Given the description of an element on the screen output the (x, y) to click on. 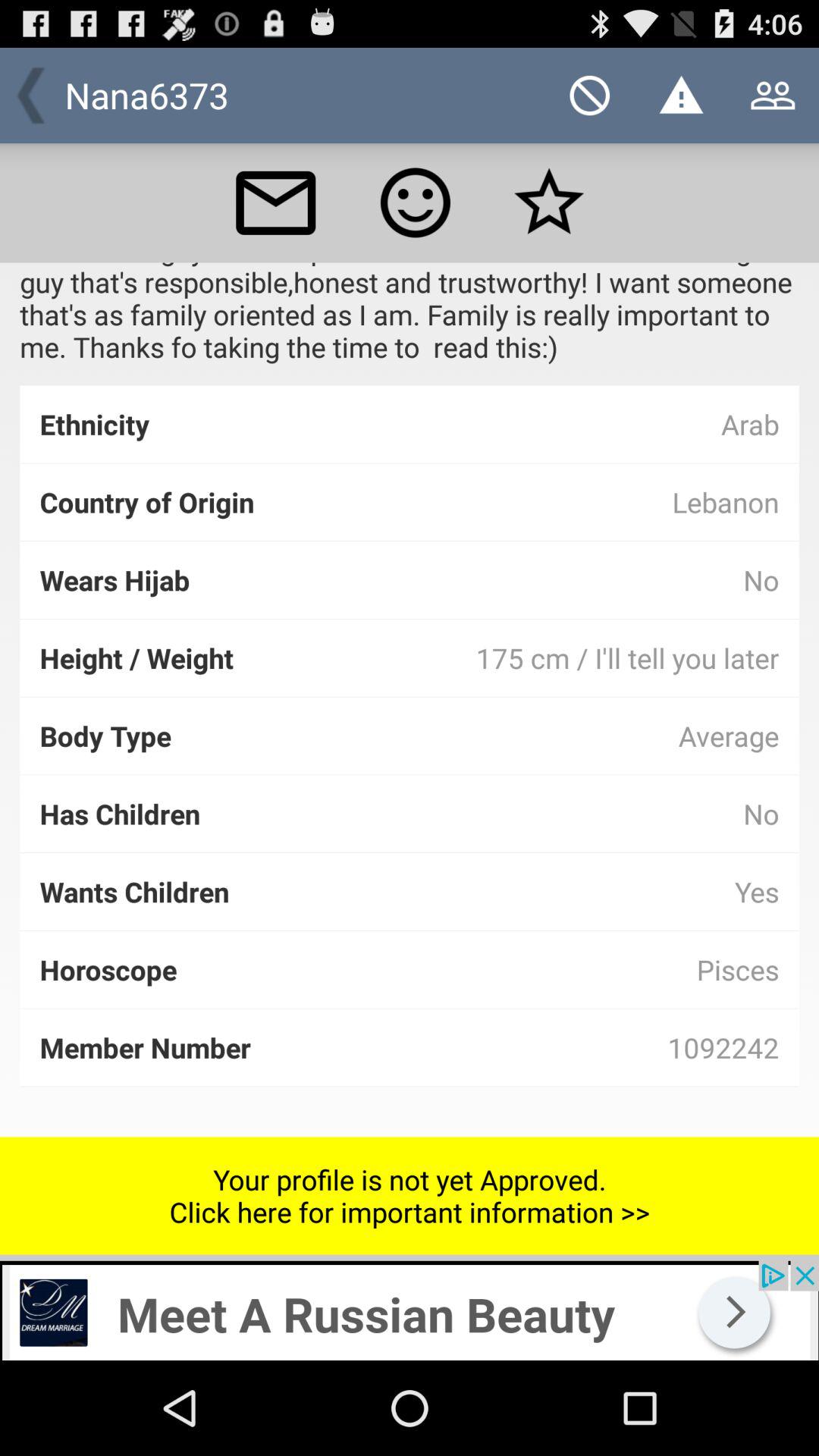
toggle emotes (415, 202)
